Given the description of an element on the screen output the (x, y) to click on. 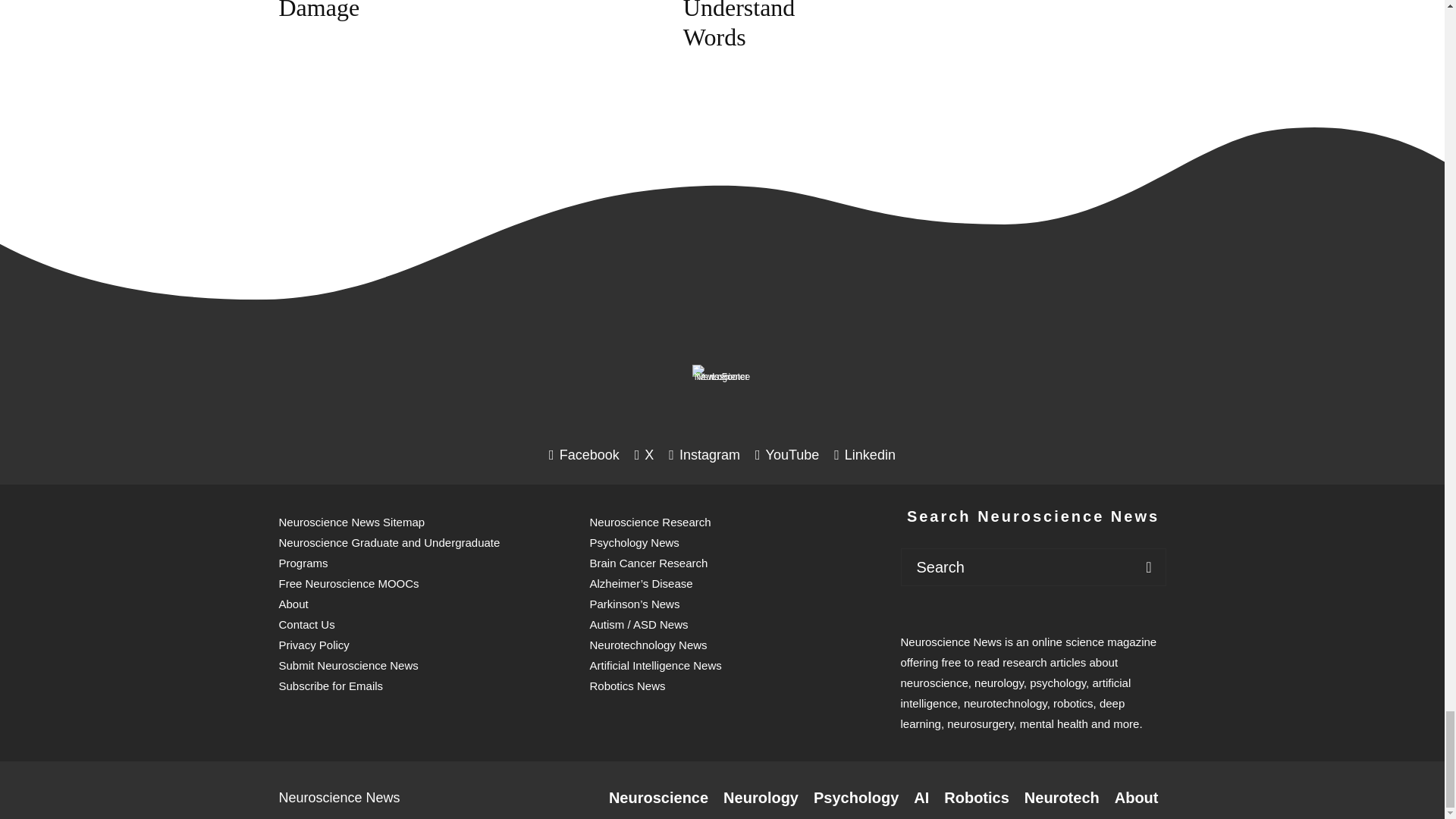
Neurology Research Articles (760, 797)
Neuroscience Research (657, 797)
Psychology Research Articles (855, 797)
